Given the description of an element on the screen output the (x, y) to click on. 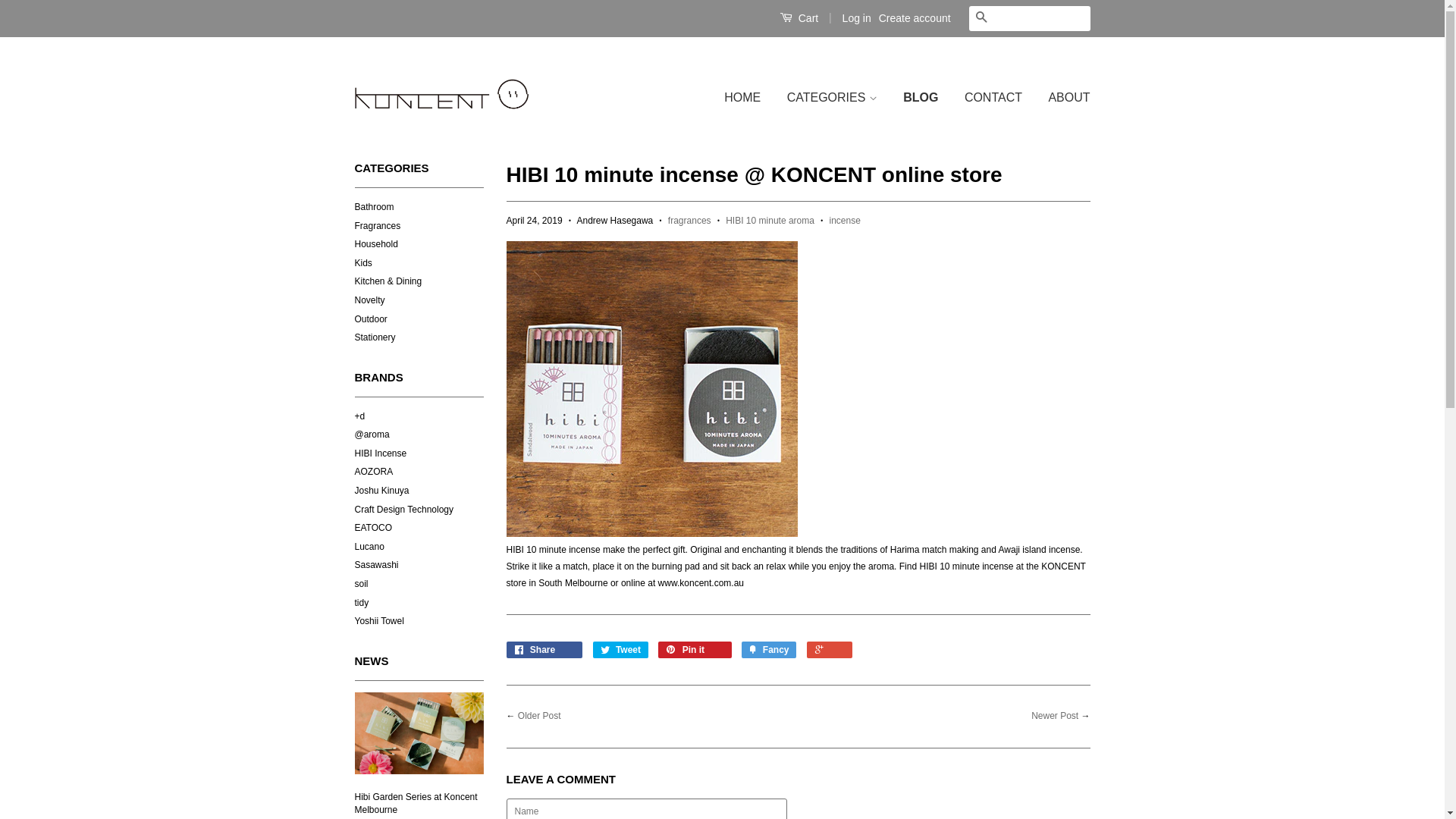
Kids Element type: text (363, 262)
Tweet Element type: text (620, 649)
Pin it Element type: text (694, 649)
HOME Element type: text (747, 97)
incense Element type: text (844, 220)
AOZORA Element type: text (373, 471)
Fragrances Element type: text (377, 225)
Log in Element type: text (856, 18)
Create account Element type: text (914, 18)
Newer Post Element type: text (1054, 715)
Novelty Element type: text (369, 299)
soil Element type: text (361, 583)
Hibi Garden Series at Koncent Melbourne Element type: text (415, 803)
Outdoor Element type: text (370, 318)
CATEGORIES Element type: text (831, 97)
Kitchen & Dining Element type: text (388, 281)
Older Post Element type: text (539, 715)
Fancy Element type: text (768, 649)
+d Element type: text (359, 416)
BLOG Element type: text (920, 97)
HIBI 10 minute aroma Element type: text (769, 220)
Bathroom Element type: text (374, 206)
HIBI Incense Element type: text (380, 453)
ABOUT Element type: text (1062, 97)
Household Element type: text (376, 243)
fragrances Element type: text (689, 220)
Craft Design Technology Element type: text (404, 509)
Cart Element type: text (798, 17)
Lucano Element type: text (369, 546)
Share Element type: text (544, 649)
Stationery Element type: text (374, 337)
Joshu Kinuya Element type: text (381, 490)
CONTACT Element type: text (993, 97)
tidy Element type: text (361, 602)
Search Element type: text (981, 18)
EATOCO Element type: text (373, 527)
@aroma Element type: text (371, 434)
Yoshii Towel Element type: text (379, 620)
Sasawashi Element type: text (376, 564)
